Given the description of an element on the screen output the (x, y) to click on. 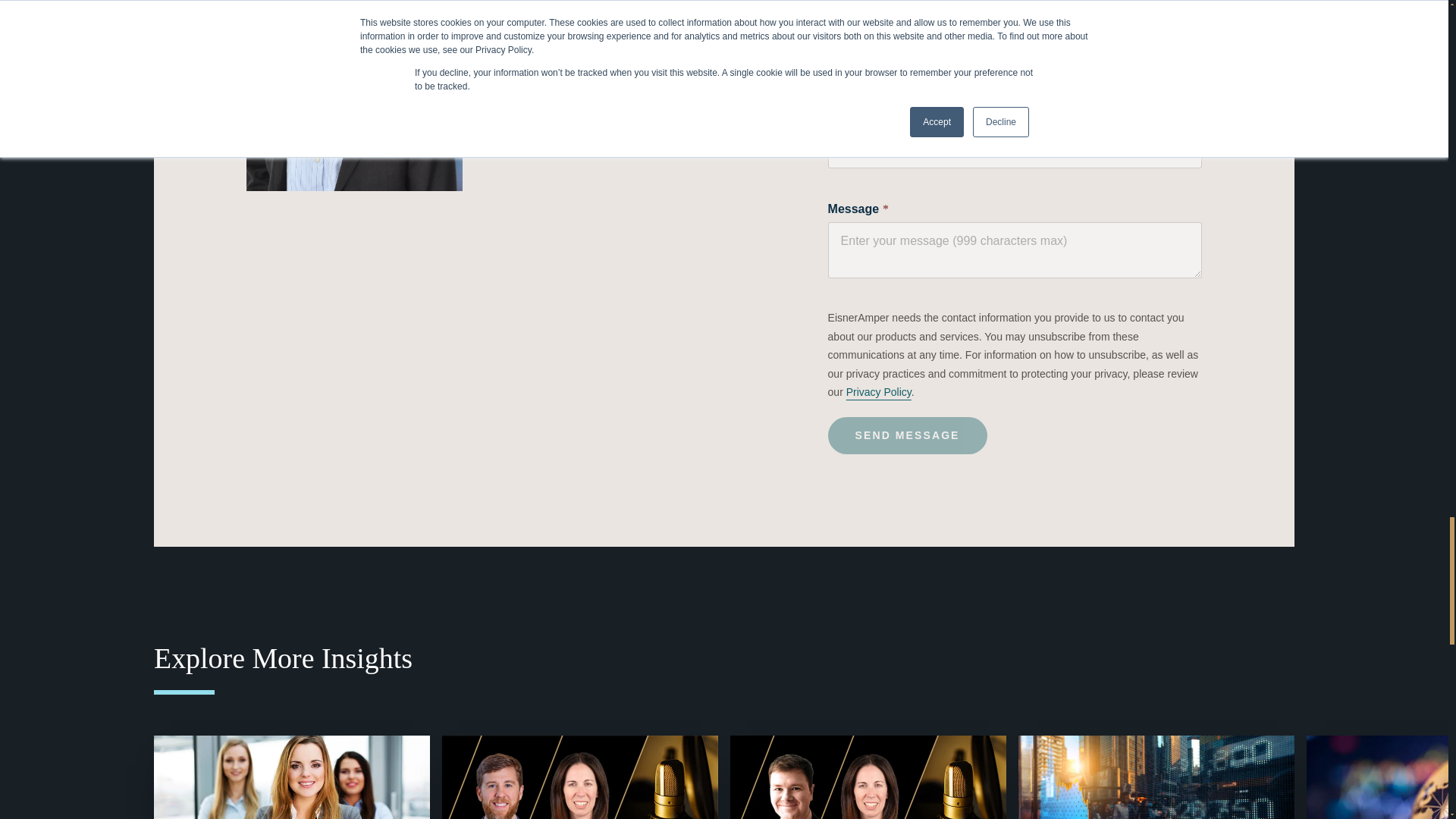
Send Message (907, 435)
